Given the description of an element on the screen output the (x, y) to click on. 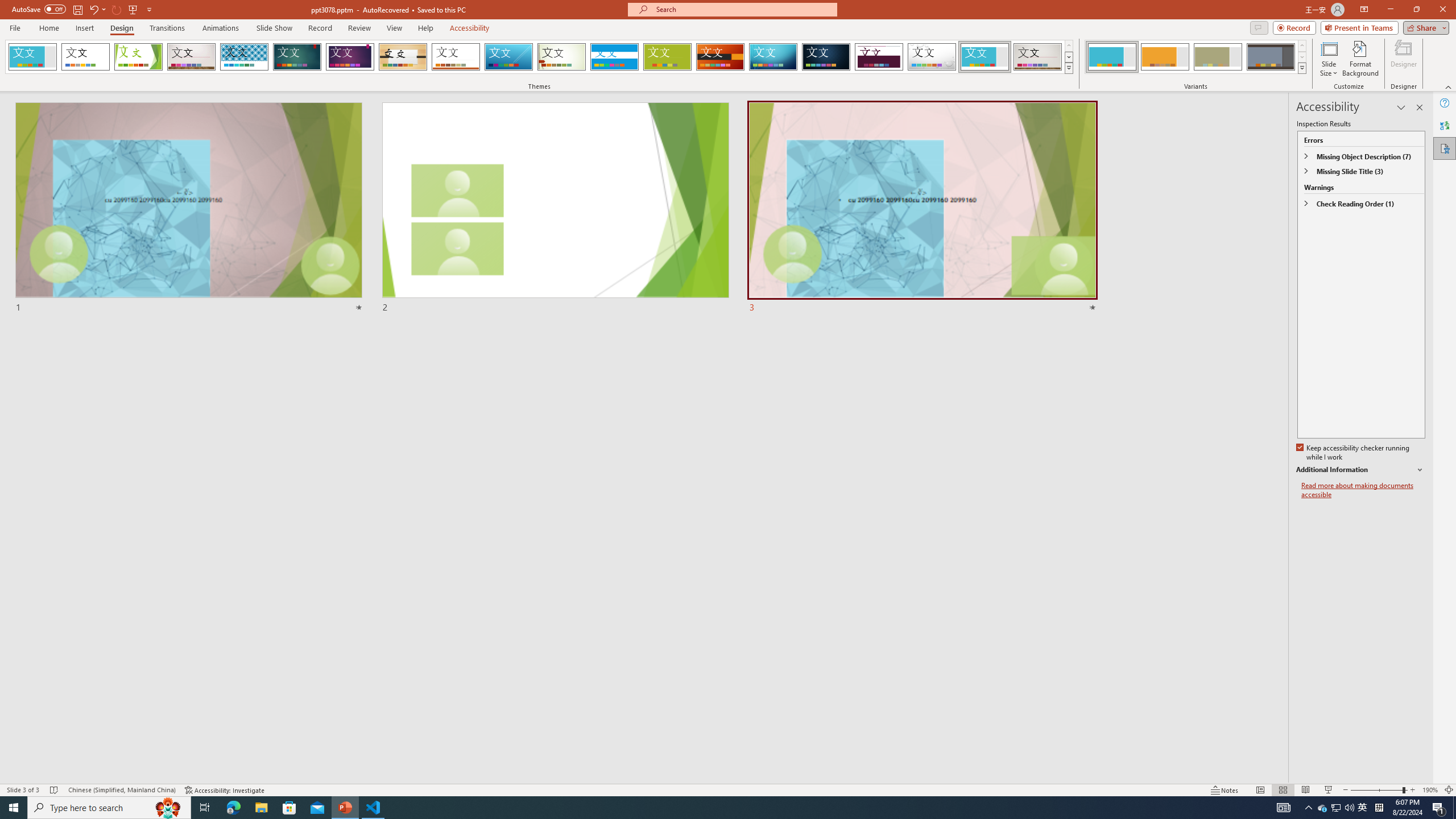
Frame Variant 4 (1270, 56)
Format Background (1360, 58)
Ion Boardroom (350, 56)
Banded (614, 56)
AutomationID: ThemeVariantsGallery (1195, 56)
Slice (508, 56)
